Given the description of an element on the screen output the (x, y) to click on. 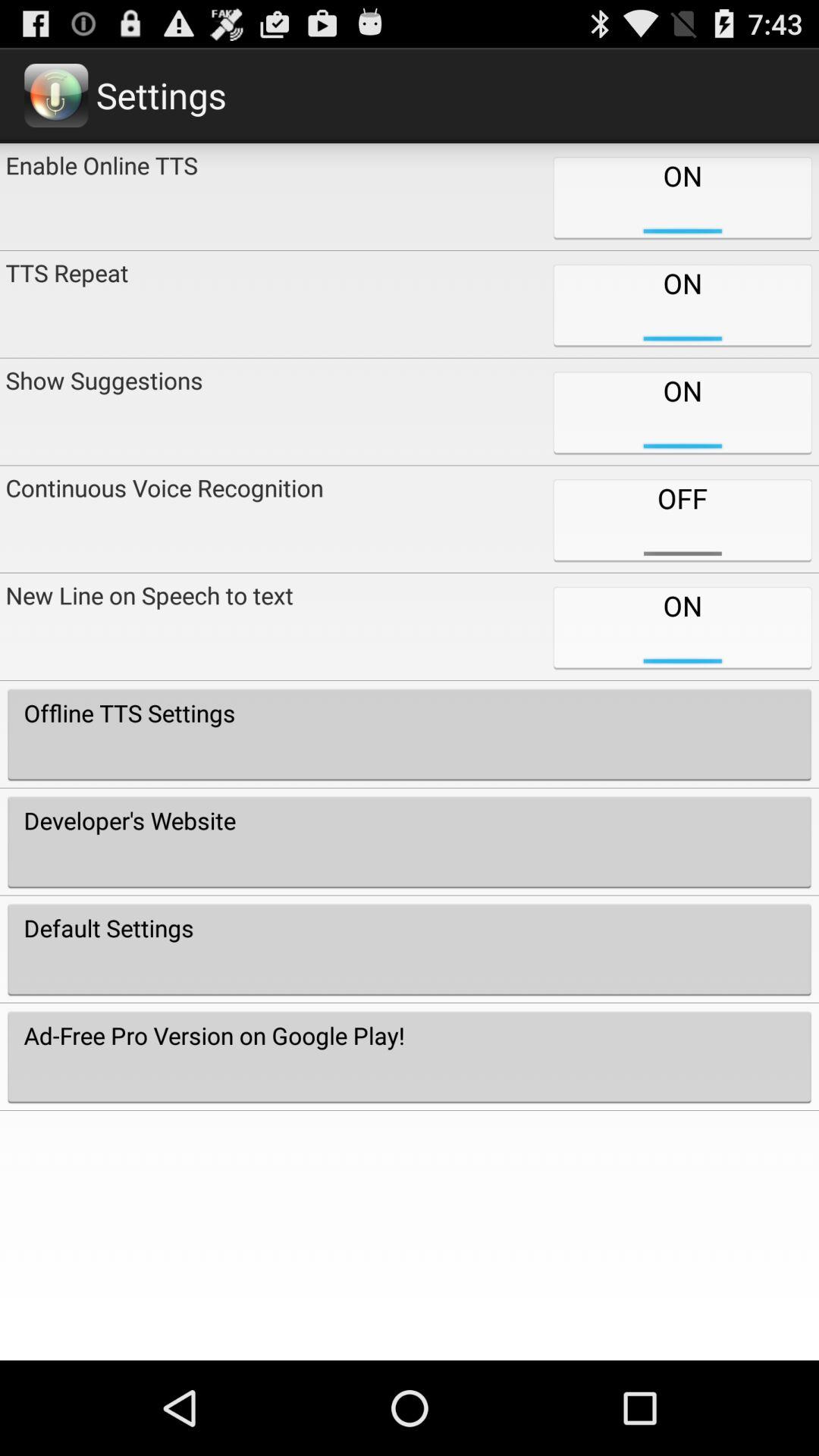
open the default settings item (409, 949)
